Given the description of an element on the screen output the (x, y) to click on. 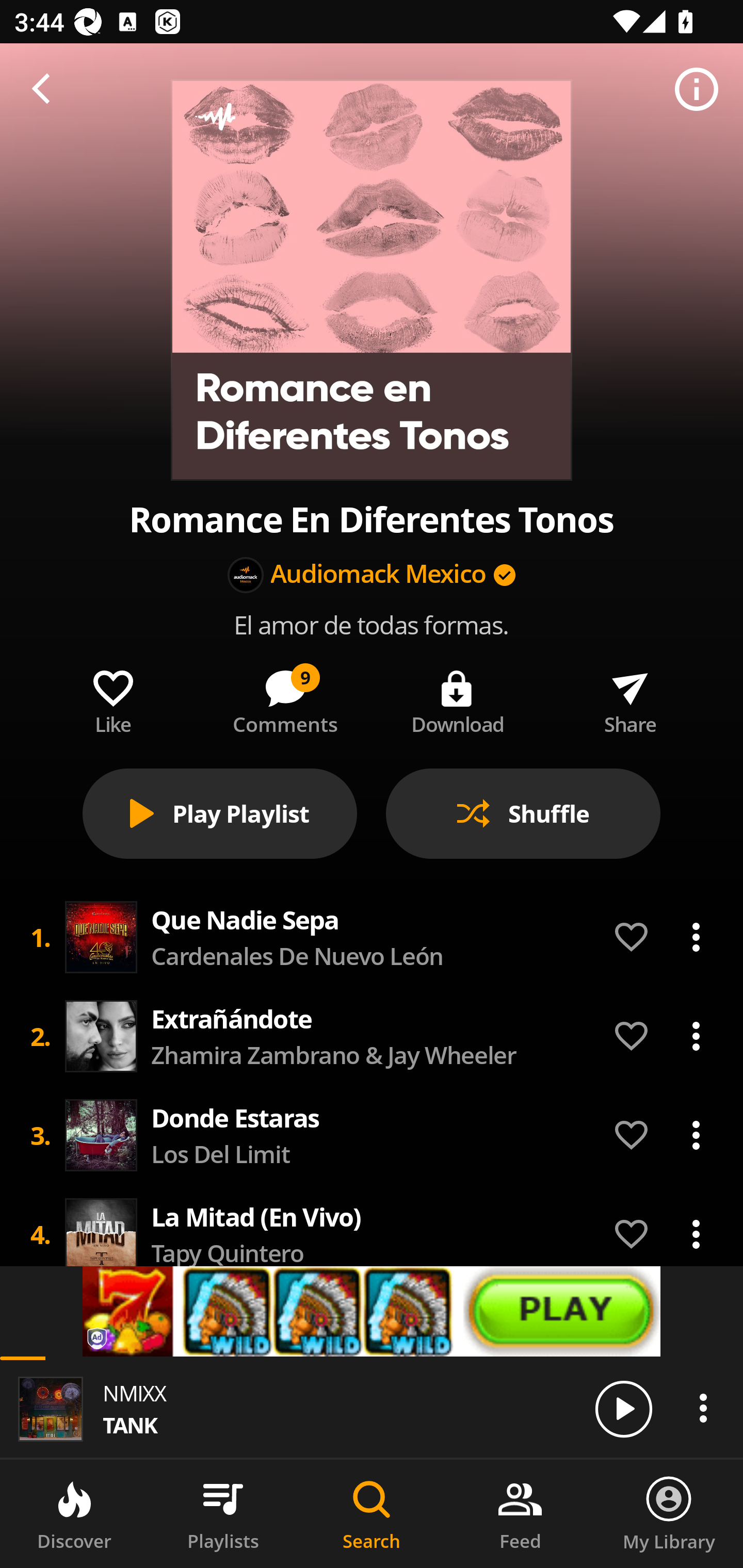
Close (46, 89)
Music info (696, 89)
Audiomack Mexico (378, 574)
Like (112, 698)
Comment Comment 9 Comments (285, 698)
Download (457, 698)
Share (629, 698)
Play Playlist (219, 813)
Shuffle (522, 813)
Actions (695, 936)
Actions (695, 1036)
Actions (695, 1135)
Actions (695, 1233)
fsc (371, 1311)
Liftoff Privacy (97, 1339)
Actions (703, 1407)
Play/Pause (623, 1408)
Discover (74, 1513)
Playlists (222, 1513)
Search (371, 1513)
Feed (519, 1513)
My Library (668, 1513)
